Given the description of an element on the screen output the (x, y) to click on. 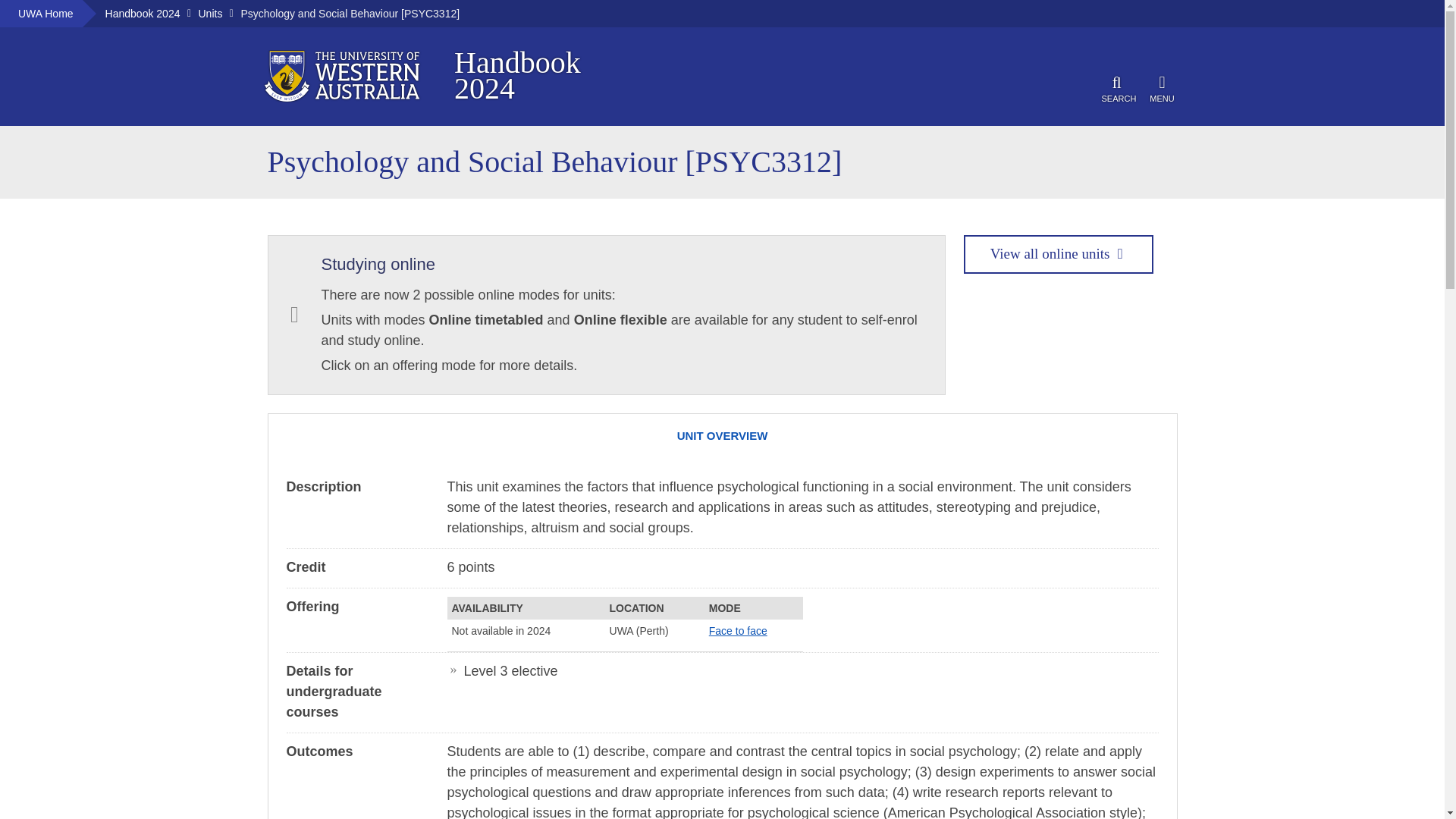
View all online units (547, 79)
Handbook 2024 (1057, 254)
MENU (142, 13)
UNIT OVERVIEW (1161, 86)
UWA Home (721, 435)
Units (45, 13)
Face to face (539, 79)
SEARCH (210, 13)
